Given the description of an element on the screen output the (x, y) to click on. 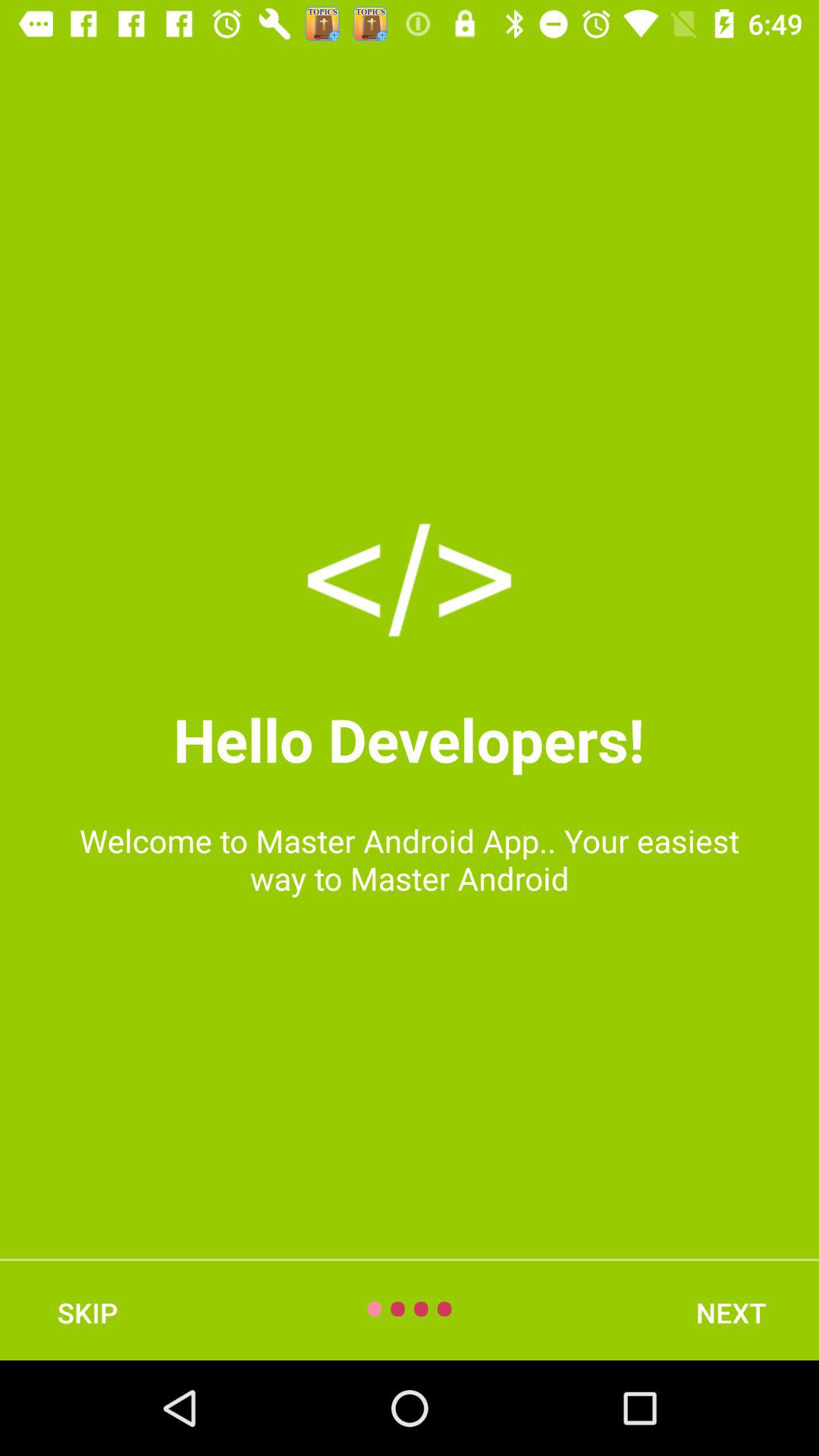
press skip (87, 1312)
